Given the description of an element on the screen output the (x, y) to click on. 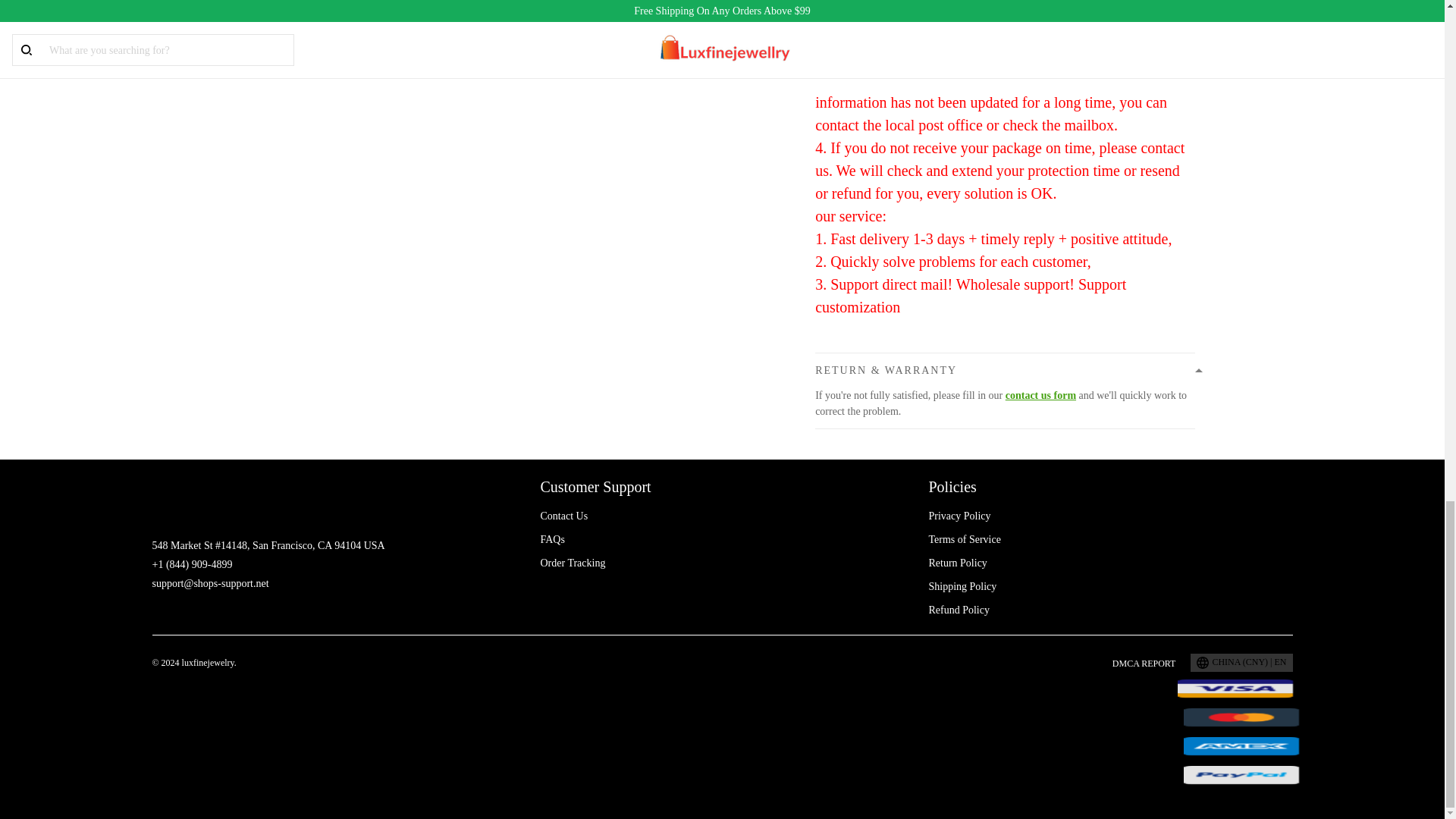
FAQs (552, 539)
Privacy Policy (959, 515)
contact us form (1040, 395)
Contact Us (564, 515)
Terms of Service (964, 539)
Order Tracking (572, 562)
Return Policy (957, 562)
